Given the description of an element on the screen output the (x, y) to click on. 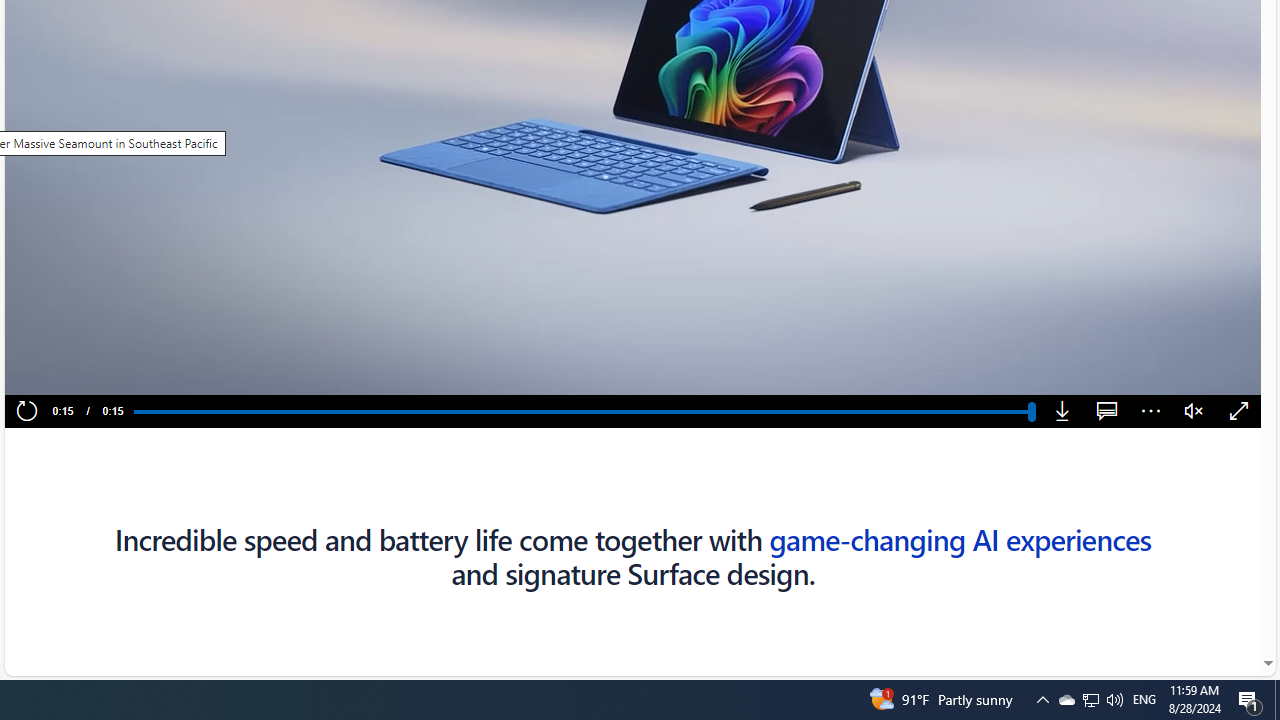
Download (1062, 412)
Unmute (1194, 412)
Fullscreen (1238, 412)
Pause (60, 372)
Replay (26, 412)
Progress Bar (582, 411)
Captions (1106, 412)
AutomationID: pause-svg (61, 372)
